Given the description of an element on the screen output the (x, y) to click on. 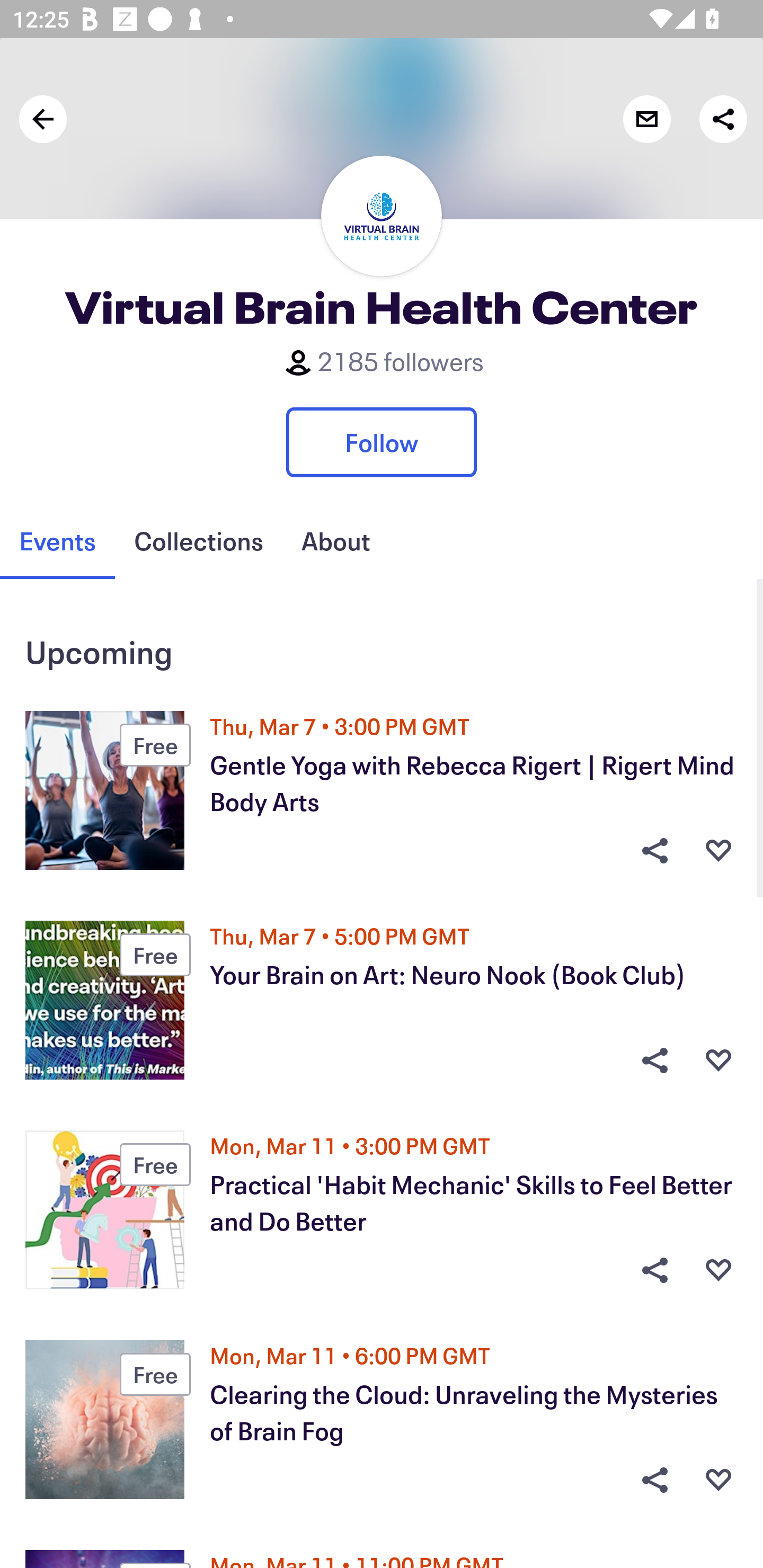
Back navigation arrow (43, 118)
Contact organizer (646, 118)
Share with friends (722, 118)
Follow (381, 441)
Collections (198, 540)
About (335, 540)
Share Event (654, 850)
Like event (718, 850)
Share Event (654, 1060)
Like event (718, 1060)
Share Event (654, 1269)
Like event (718, 1269)
Share Event (654, 1480)
Like event (718, 1480)
